Given the description of an element on the screen output the (x, y) to click on. 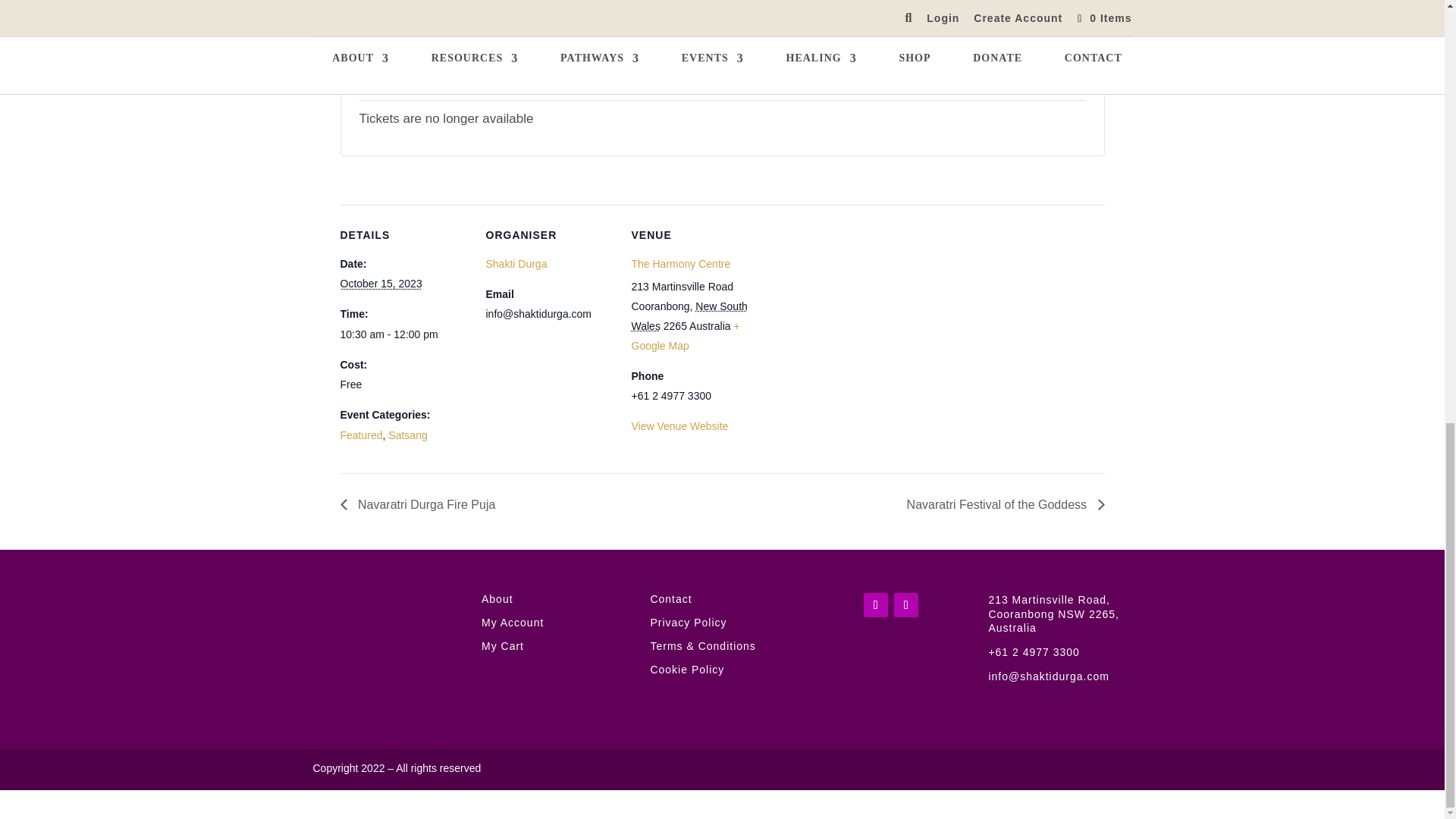
Follow on Instagram (905, 604)
Click to view a Google Map (684, 336)
New South Wales (688, 316)
Shakti Durga (515, 263)
Follow on Facebook (875, 604)
2023-10-15 (380, 283)
2023-10-15 (403, 334)
Shakti Durga Logo 120 x 120 white (384, 637)
